Given the description of an element on the screen output the (x, y) to click on. 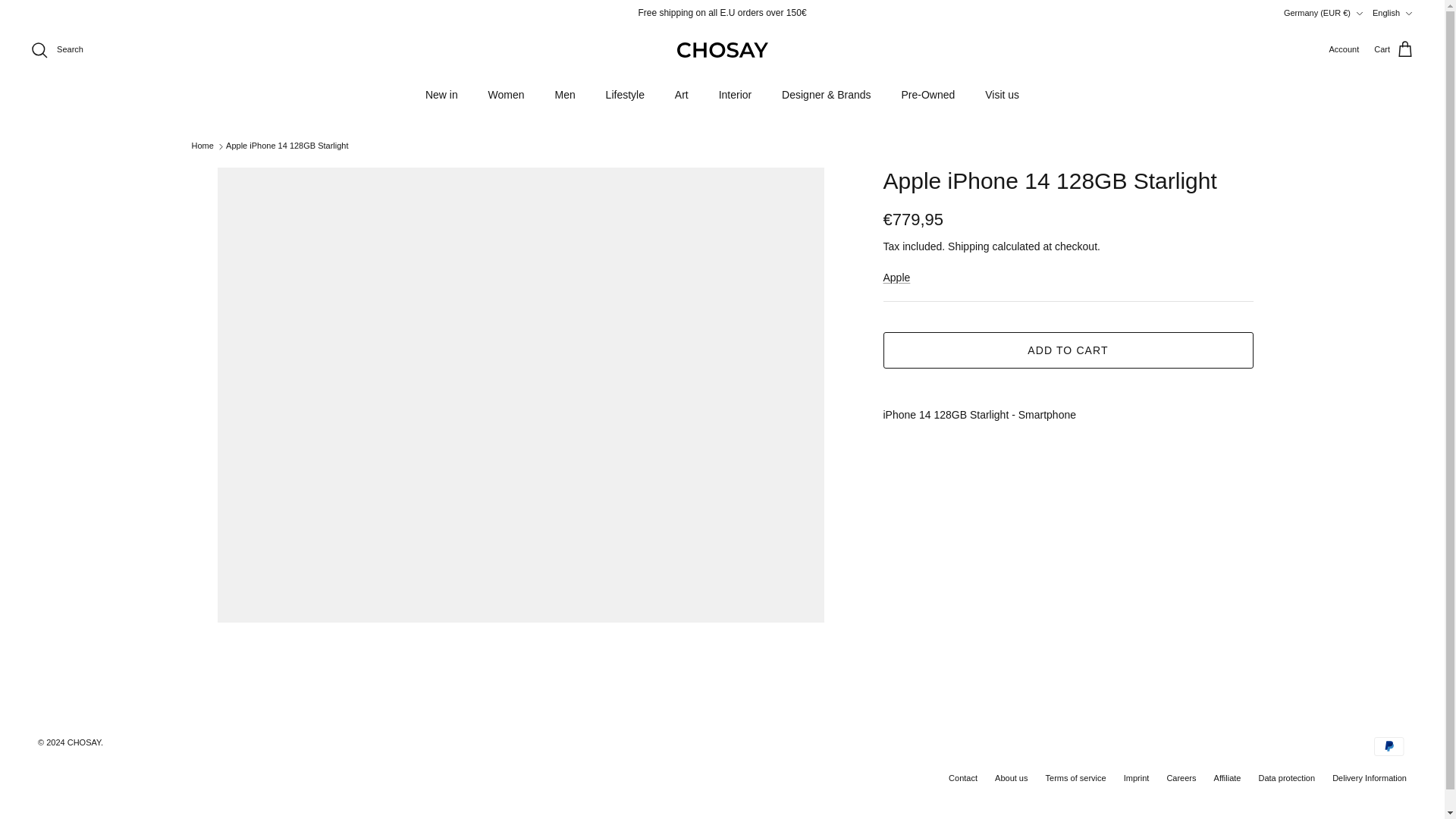
Down (1359, 13)
Down (1408, 13)
CHOSAY (722, 49)
PayPal (1388, 746)
